Given the description of an element on the screen output the (x, y) to click on. 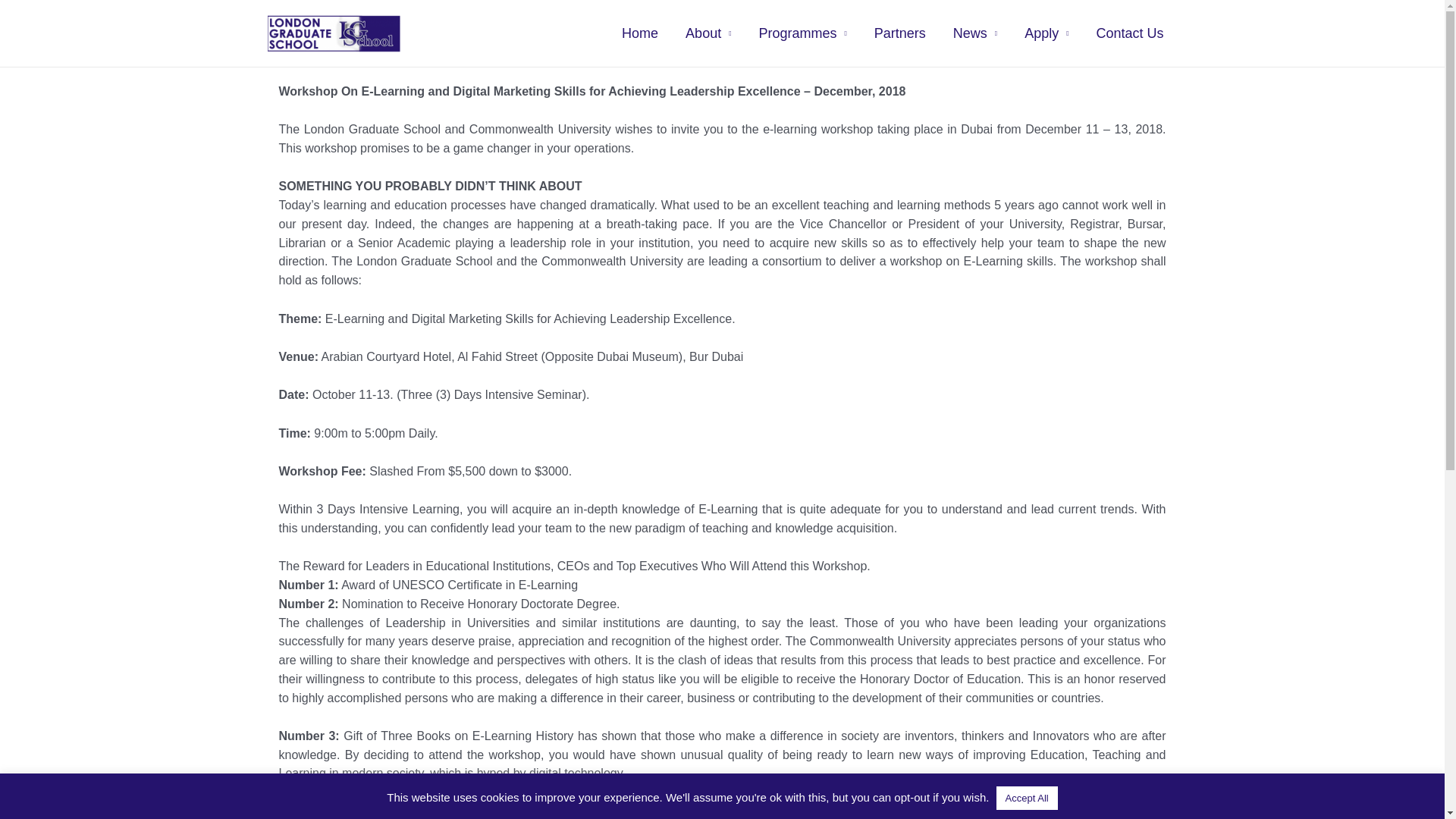
Home (639, 33)
News (974, 33)
Partners (899, 33)
Contact Us (1128, 33)
Apply (1045, 33)
Programmes (802, 33)
About (707, 33)
